Given the description of an element on the screen output the (x, y) to click on. 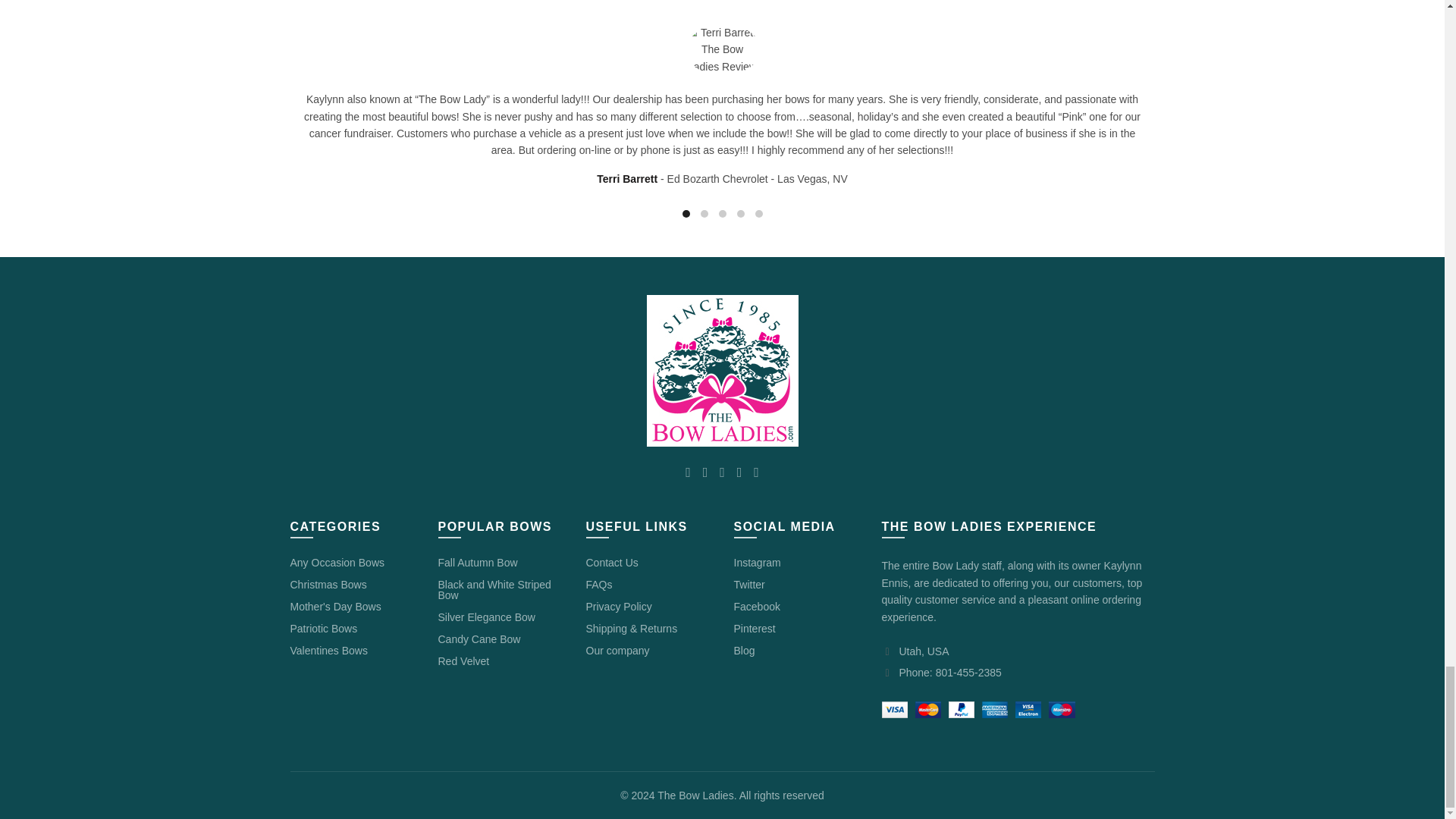
The Bow Ladies (721, 370)
Terri Barrett Bow Ladies Review (722, 49)
